Given the description of an element on the screen output the (x, y) to click on. 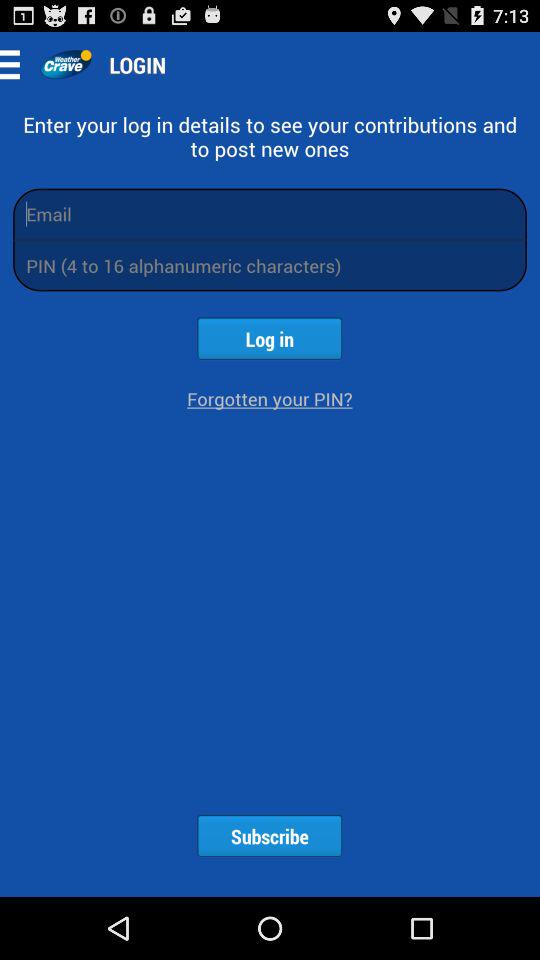
enter pin number (269, 265)
